Given the description of an element on the screen output the (x, y) to click on. 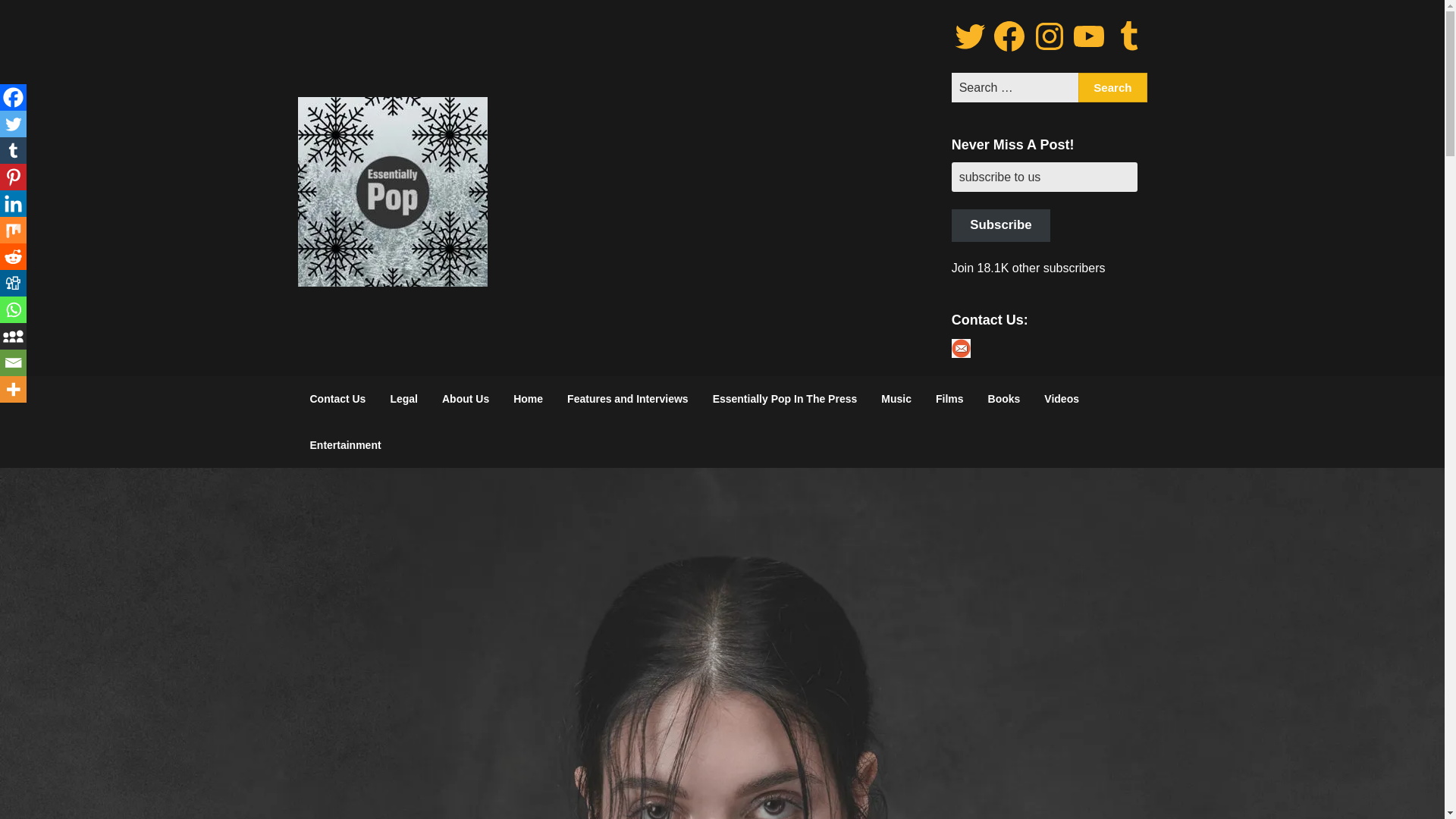
About Us (464, 398)
Home (527, 398)
Search (1112, 87)
MySpace (13, 335)
Videos (1061, 398)
Tumblr (1128, 36)
YouTube (1088, 36)
Digg (13, 283)
Entertainment (345, 444)
Reddit (13, 256)
Mix (13, 230)
Tumblr (13, 150)
Films (949, 398)
Legal (403, 398)
Features and Interviews (627, 398)
